Given the description of an element on the screen output the (x, y) to click on. 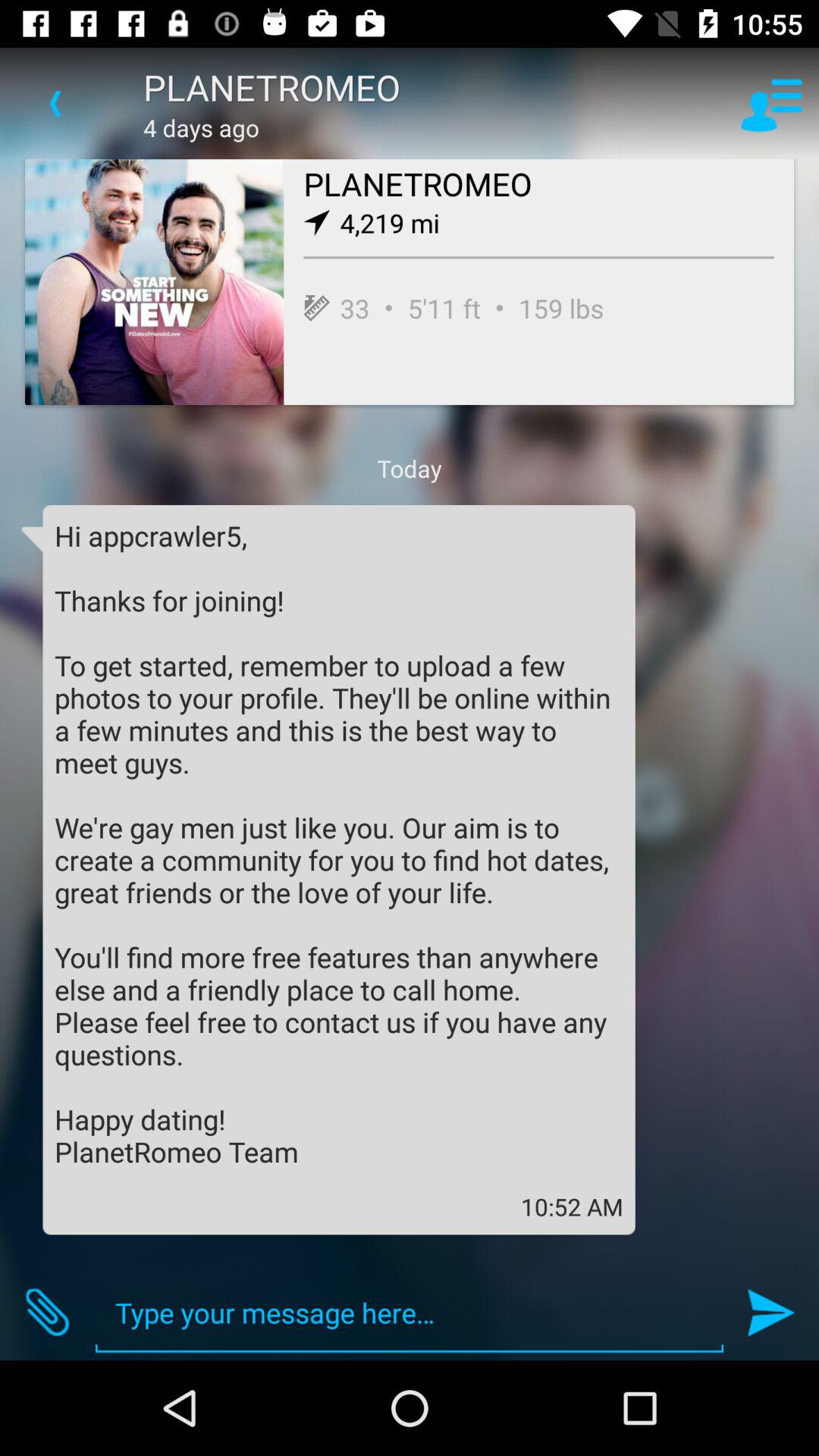
choose the icon at the top right corner (771, 103)
